Given the description of an element on the screen output the (x, y) to click on. 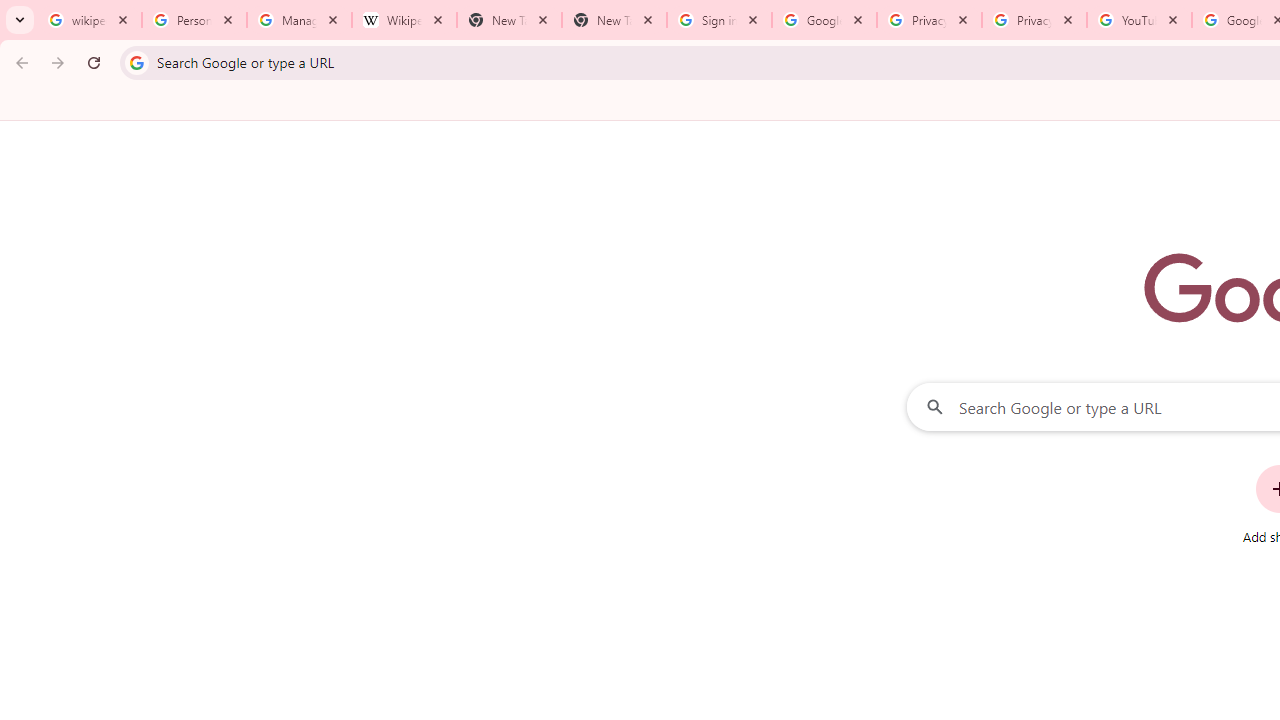
Personalization & Google Search results - Google Search Help (194, 20)
